Given the description of an element on the screen output the (x, y) to click on. 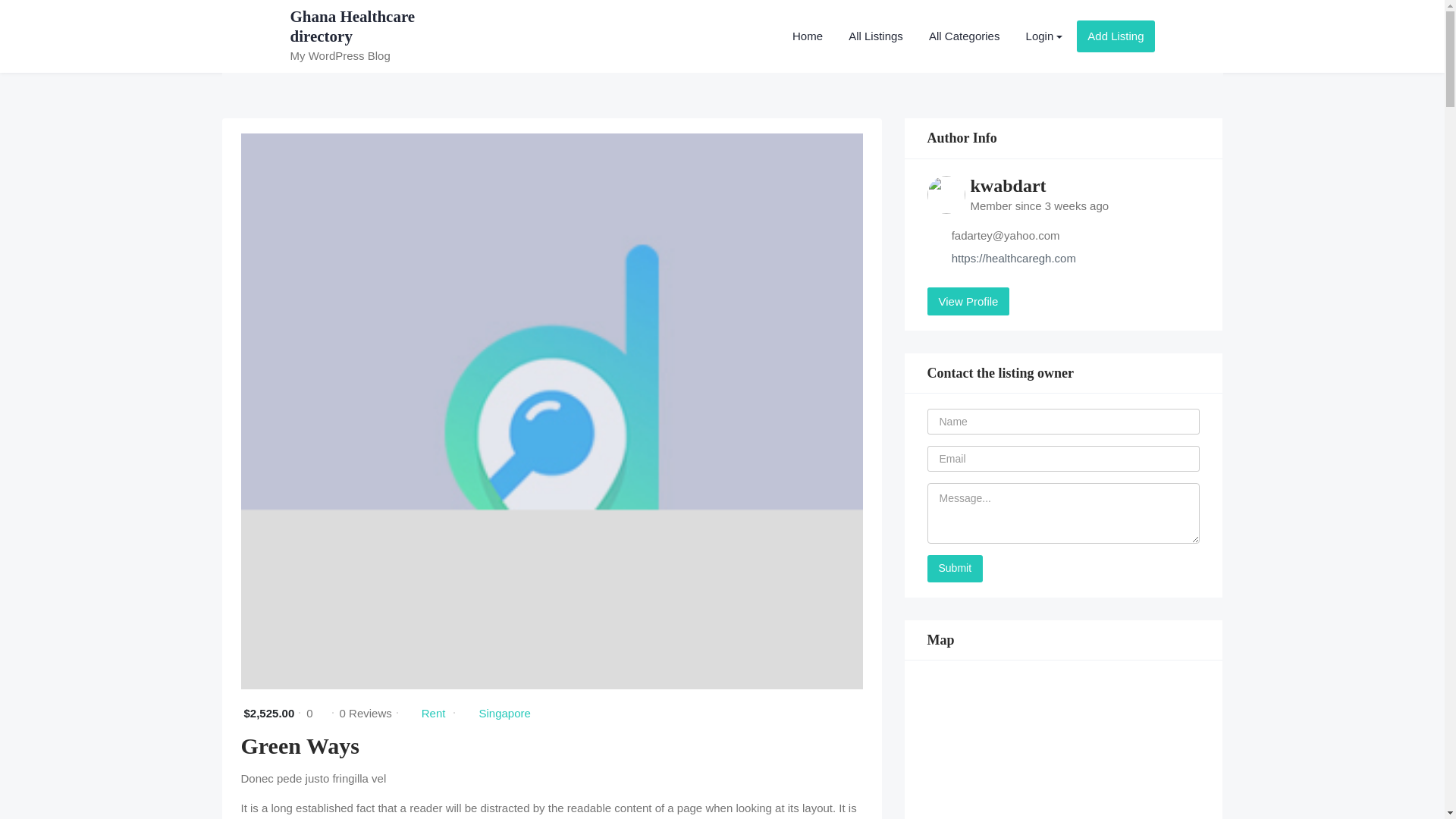
All Listings (875, 36)
All Categories (963, 36)
Add Listing (1115, 36)
Rent (433, 712)
Login (1044, 36)
Singapore (504, 712)
Ghana Healthcare directory (351, 26)
Home (807, 36)
